Given the description of an element on the screen output the (x, y) to click on. 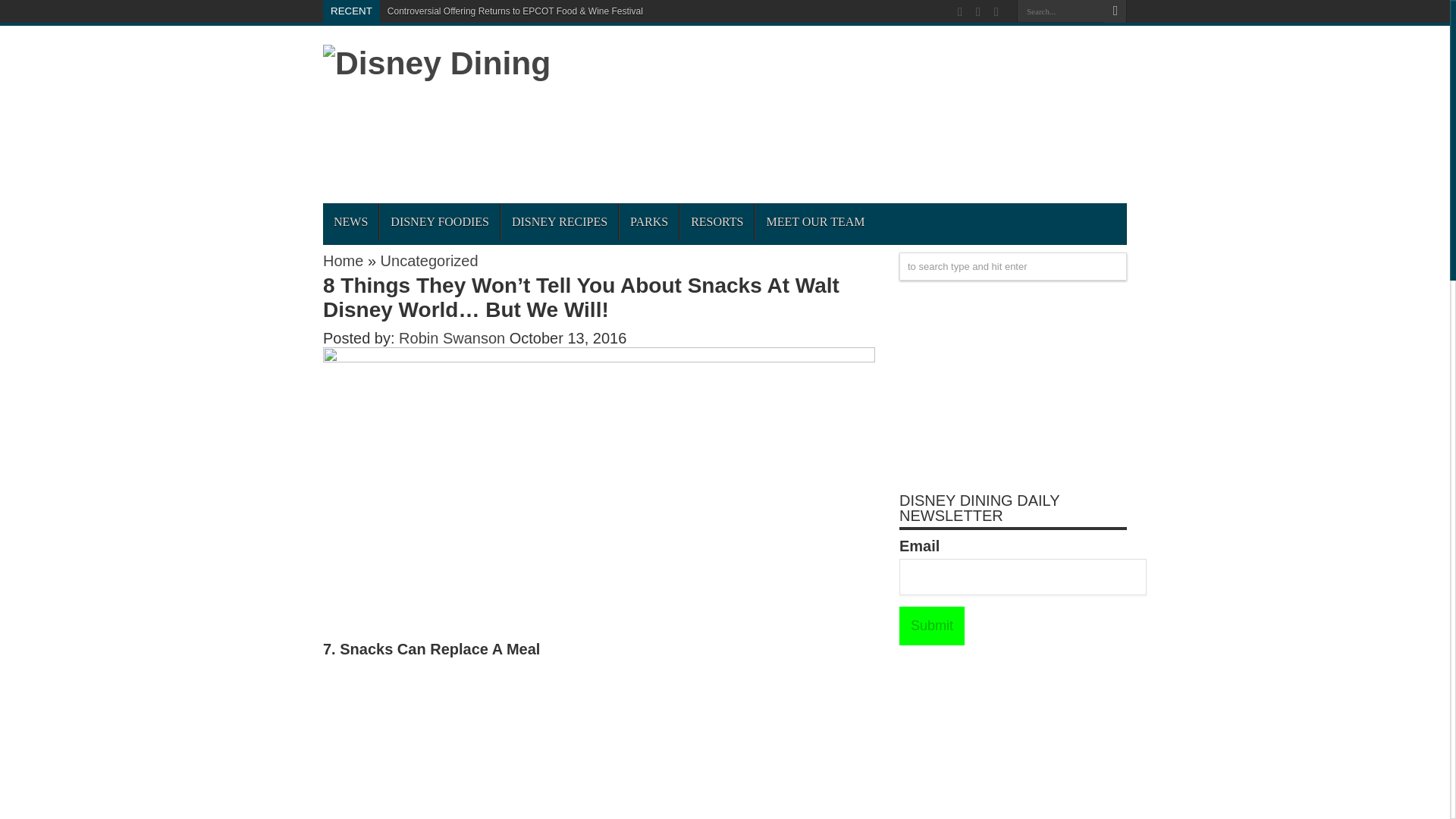
to search type and hit enter (1012, 266)
Home (342, 260)
DISNEY FOODIES (438, 221)
PARKS (648, 221)
Uncategorized (429, 260)
RESORTS (716, 221)
MEET OUR TEAM (814, 221)
Search (1114, 11)
DISNEY RECIPES (558, 221)
Search... (1059, 11)
